Given the description of an element on the screen output the (x, y) to click on. 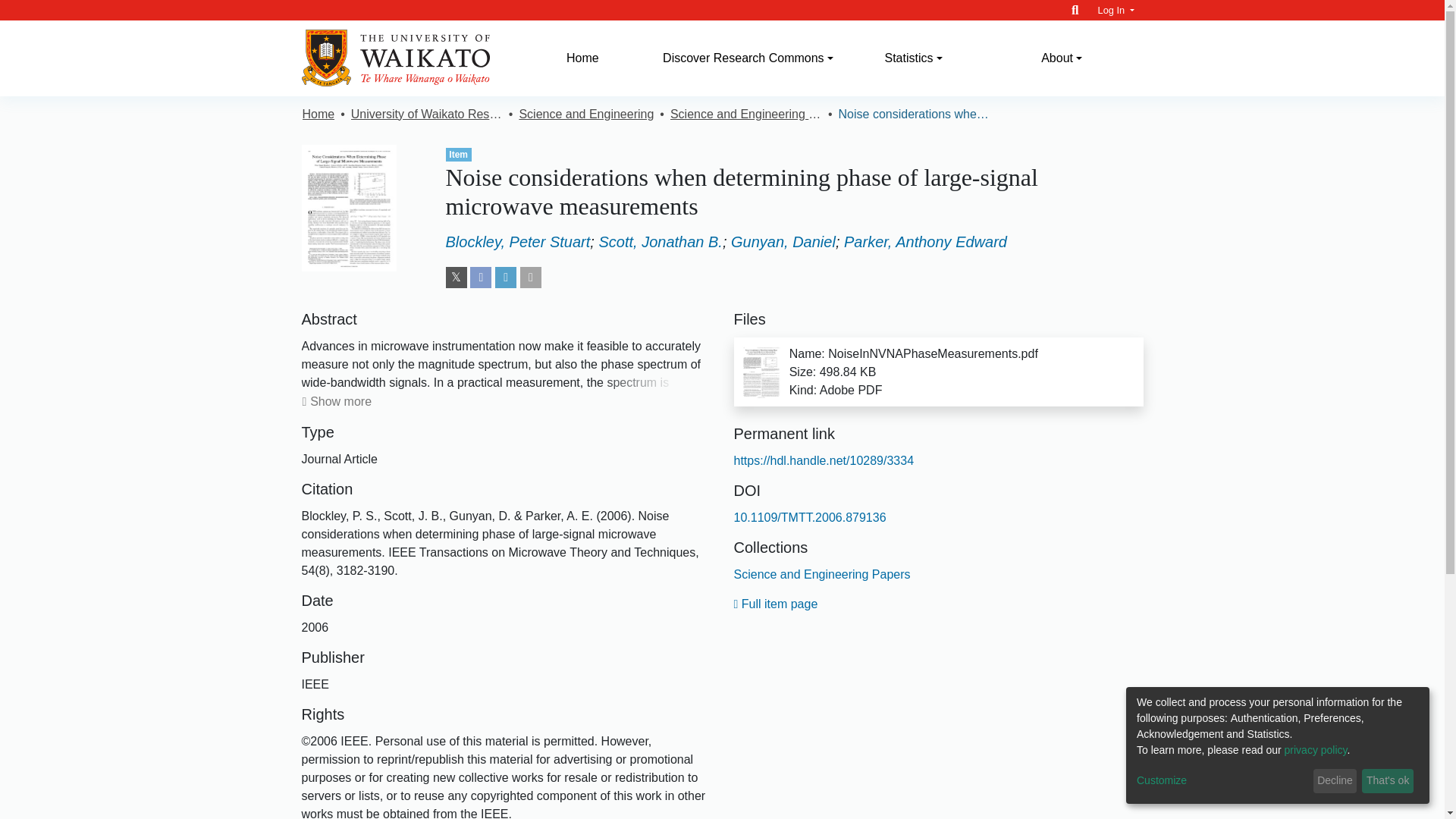
Log In (1115, 9)
Home (582, 58)
Discover Research Commons (748, 58)
Home (582, 58)
Search (1075, 10)
